Given the description of an element on the screen output the (x, y) to click on. 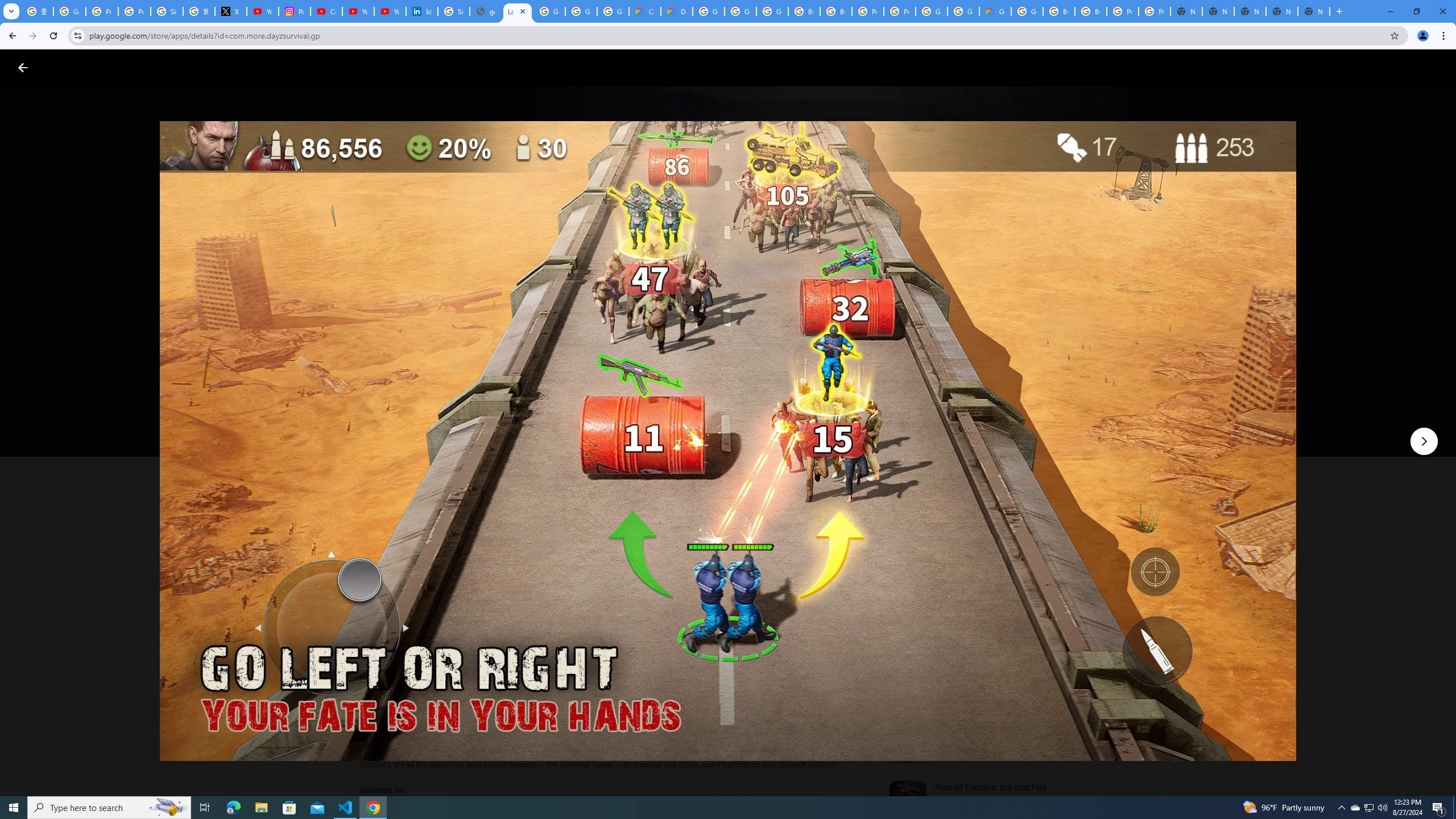
Browse Chrome as a guest - Computer - Google Chrome Help (1059, 11)
Customer Care | Google Cloud (644, 11)
Google Play logo (64, 67)
Install (416, 423)
X (230, 11)
Privacy Help Center - Policies Help (101, 11)
Share (506, 422)
